Given the description of an element on the screen output the (x, y) to click on. 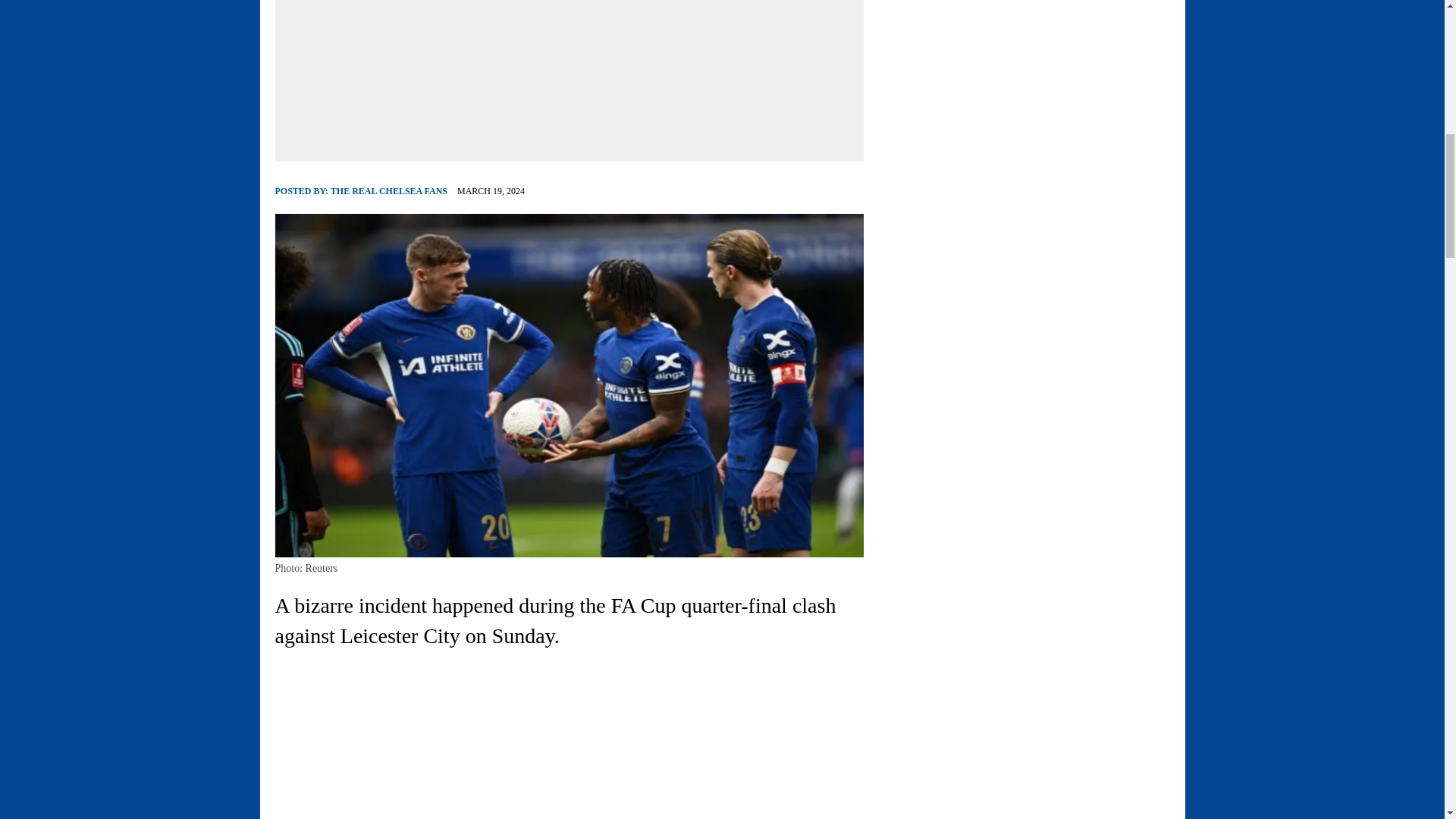
Advertisement (402, 742)
THE REAL CHELSEA FANS (388, 190)
Advertisement (569, 74)
